Given the description of an element on the screen output the (x, y) to click on. 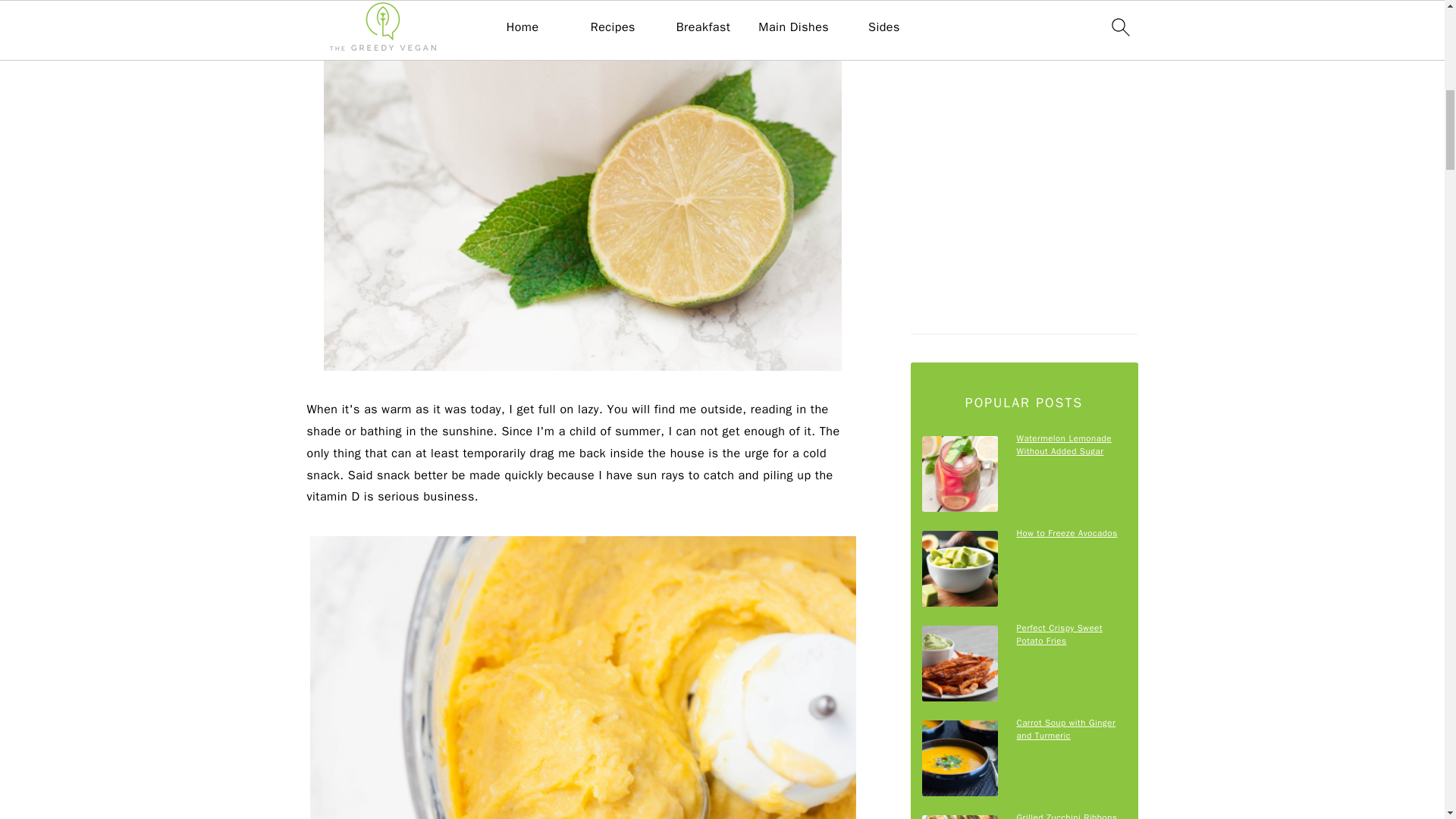
Carrot Soup with Ginger and Turmeric (959, 758)
How to Freeze Avocados (959, 568)
Perfect Crispy Sweet Potato Fries (959, 663)
Watermelon Lemonade Without Added Sugar (959, 473)
Grilled Zucchini Ribbons with Sriracha Marinade (959, 816)
